Given the description of an element on the screen output the (x, y) to click on. 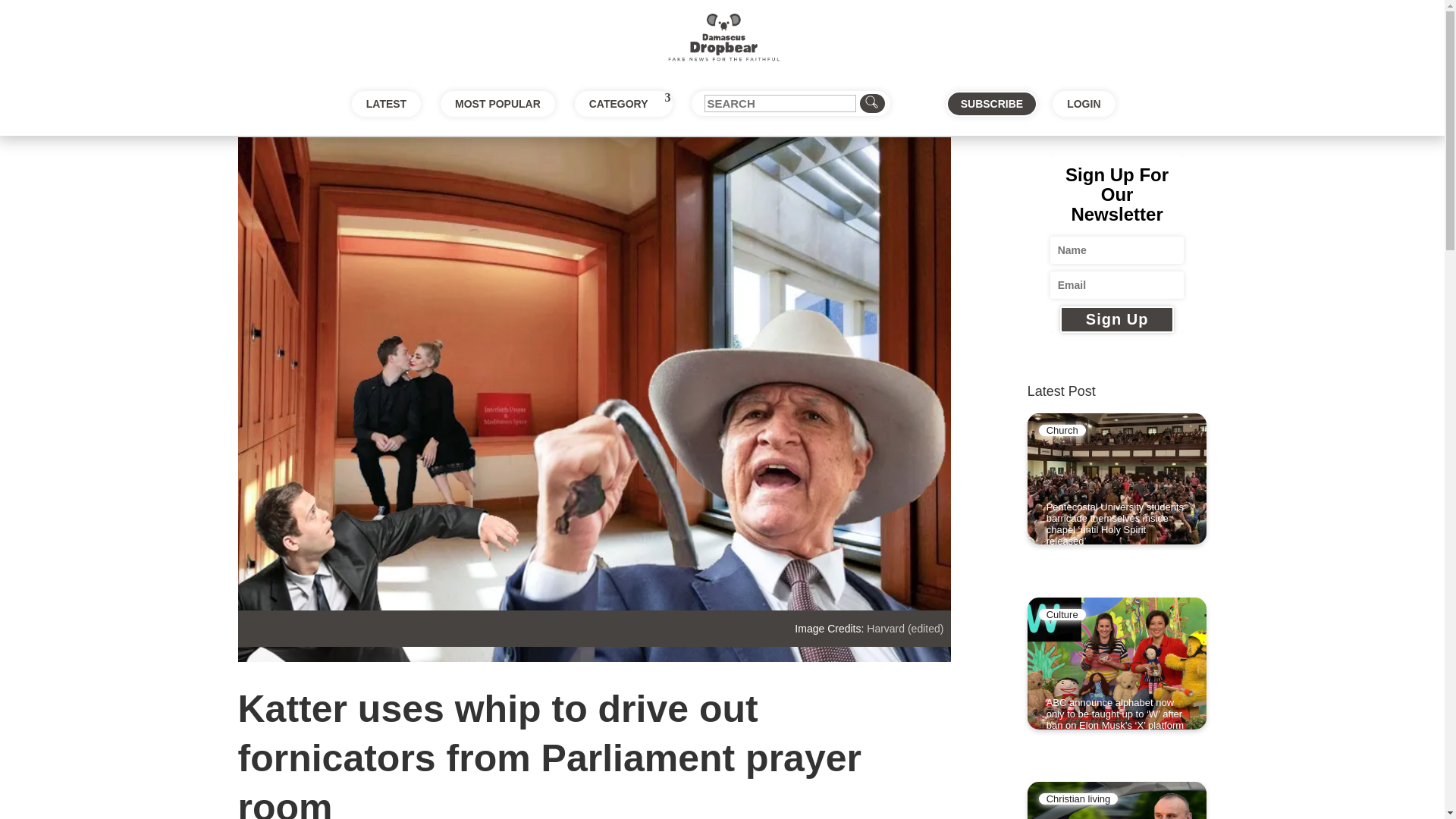
View Christian living (1078, 798)
LOGIN (1083, 103)
MOST POPULAR (497, 103)
SEARCH FOR: (790, 103)
CATEGORY (623, 103)
View Church (1062, 430)
SUBSCRIBE (991, 103)
LATEST (386, 103)
View Culture (1062, 614)
